Given the description of an element on the screen output the (x, y) to click on. 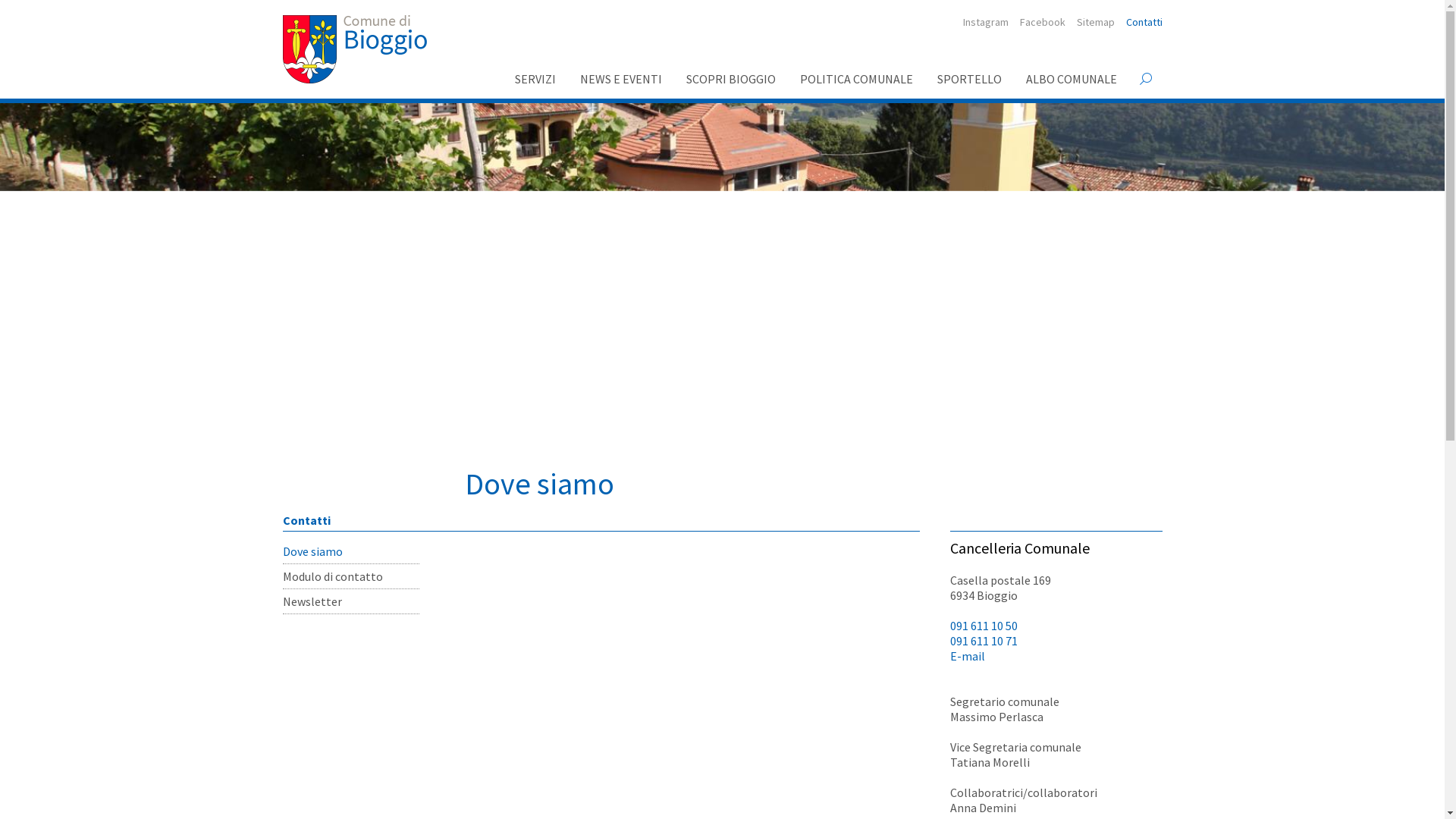
091 611 10 50 Element type: text (982, 625)
SCOPRI BIOGGIO Element type: text (730, 78)
ALBO COMUNALE Element type: text (1070, 78)
Newsletter Element type: text (350, 601)
E-mail Element type: text (966, 655)
POLITICA COMUNALE Element type: text (855, 78)
Modulo di contatto Element type: text (350, 576)
  Element type: text (1141, 78)
Sitemap Element type: text (1095, 21)
Facebook Element type: text (1041, 21)
Comune di Bioggio Element type: hover (354, 49)
SERVIZI Element type: text (534, 78)
Contatti Element type: text (1143, 21)
Dove siamo Element type: text (350, 551)
NEWS E EVENTI Element type: text (620, 78)
Instagram Element type: text (985, 21)
091 611 10 71 Element type: text (982, 640)
SPORTELLO Element type: text (969, 78)
